Given the description of an element on the screen output the (x, y) to click on. 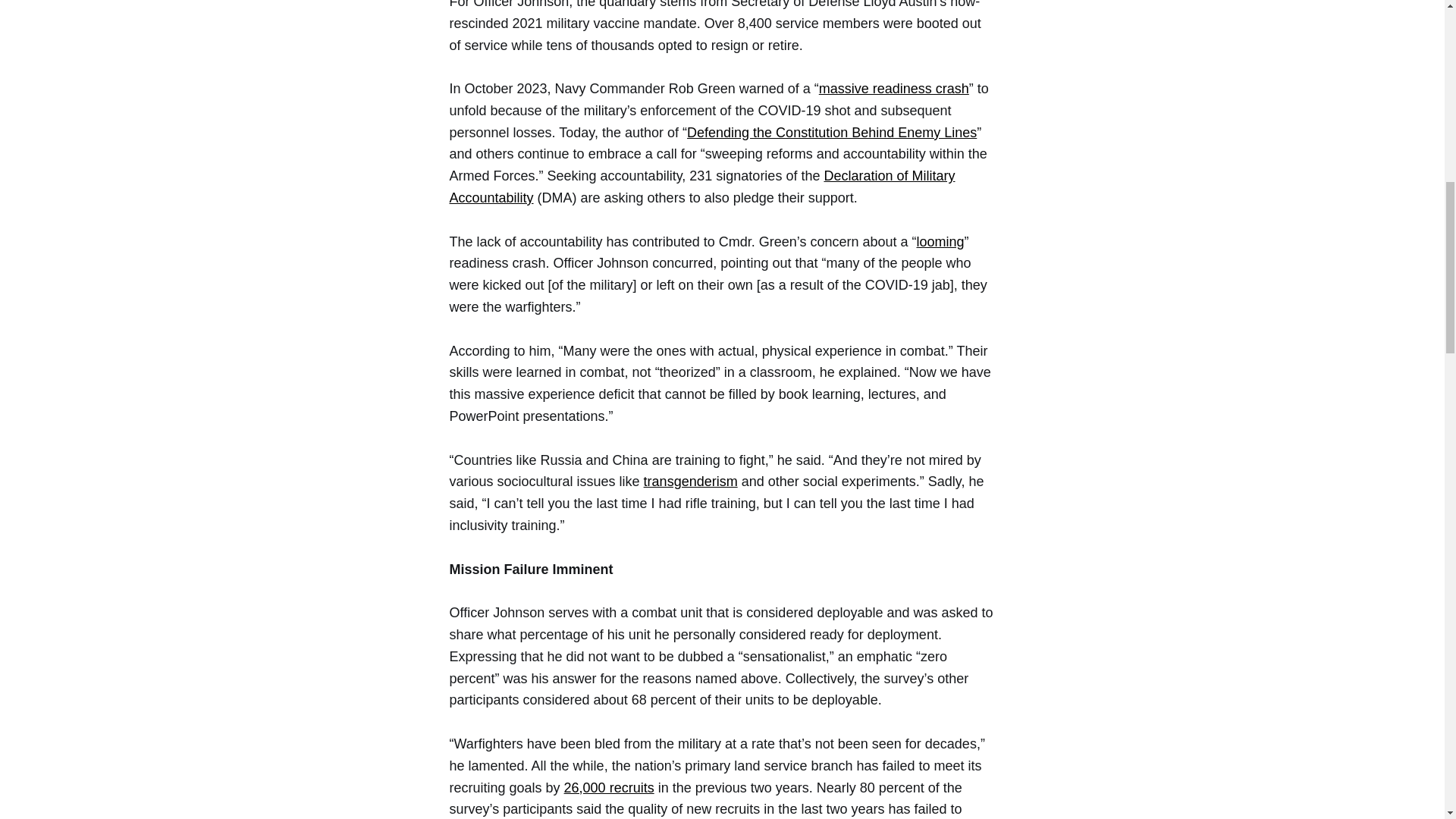
massive readiness crash (893, 88)
Declaration of Military Accountability (701, 186)
transgenderism (690, 481)
26,000 recruits (608, 787)
Defending the Constitution Behind Enemy Lines (831, 132)
looming (939, 241)
